Given the description of an element on the screen output the (x, y) to click on. 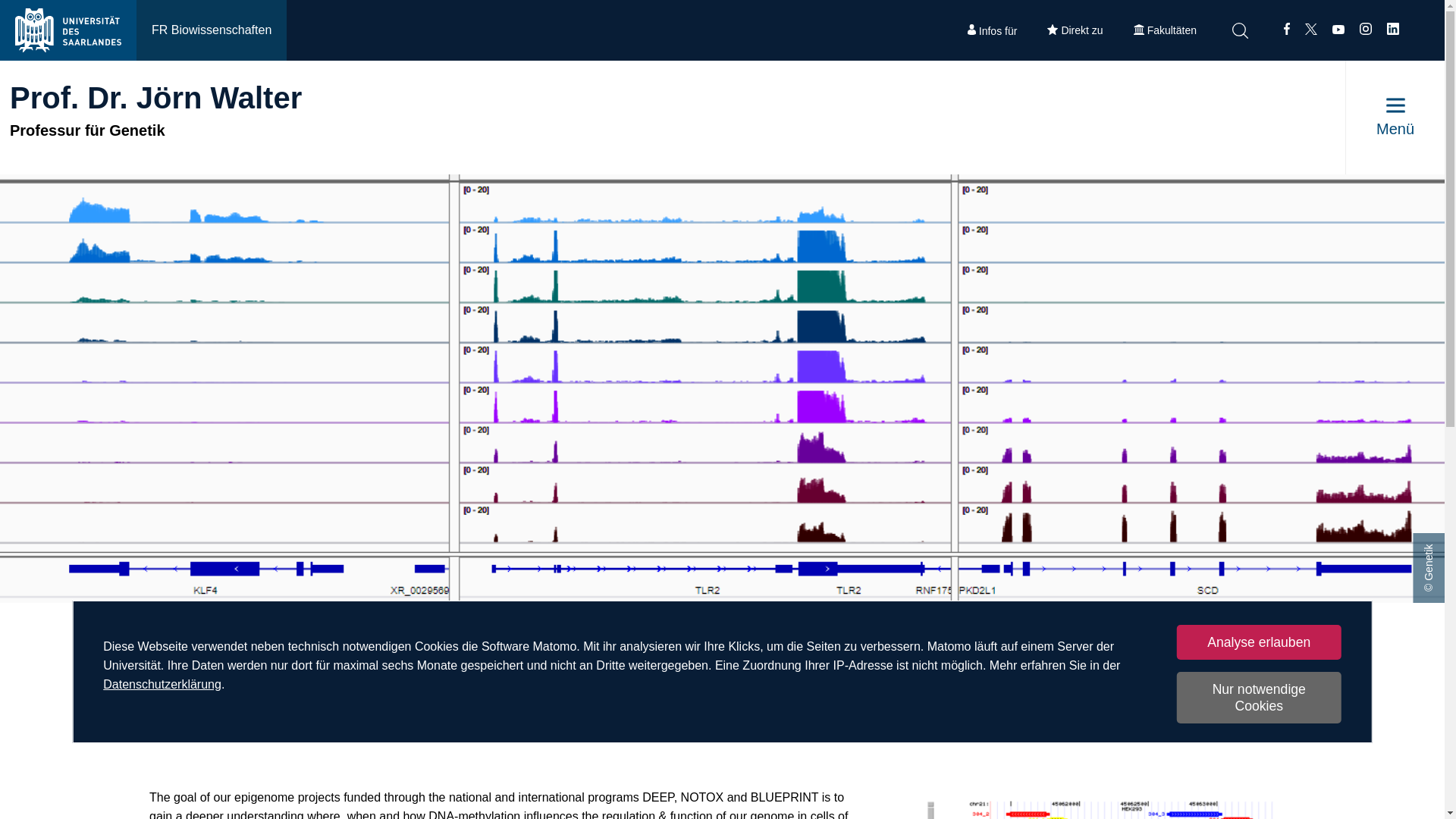
Youtube (1337, 30)
LinkedIn (1393, 30)
Direkt zu (1075, 29)
X Twitter (1310, 30)
FR Biowissenschaften (211, 30)
Instagram (1365, 30)
